Given the description of an element on the screen output the (x, y) to click on. 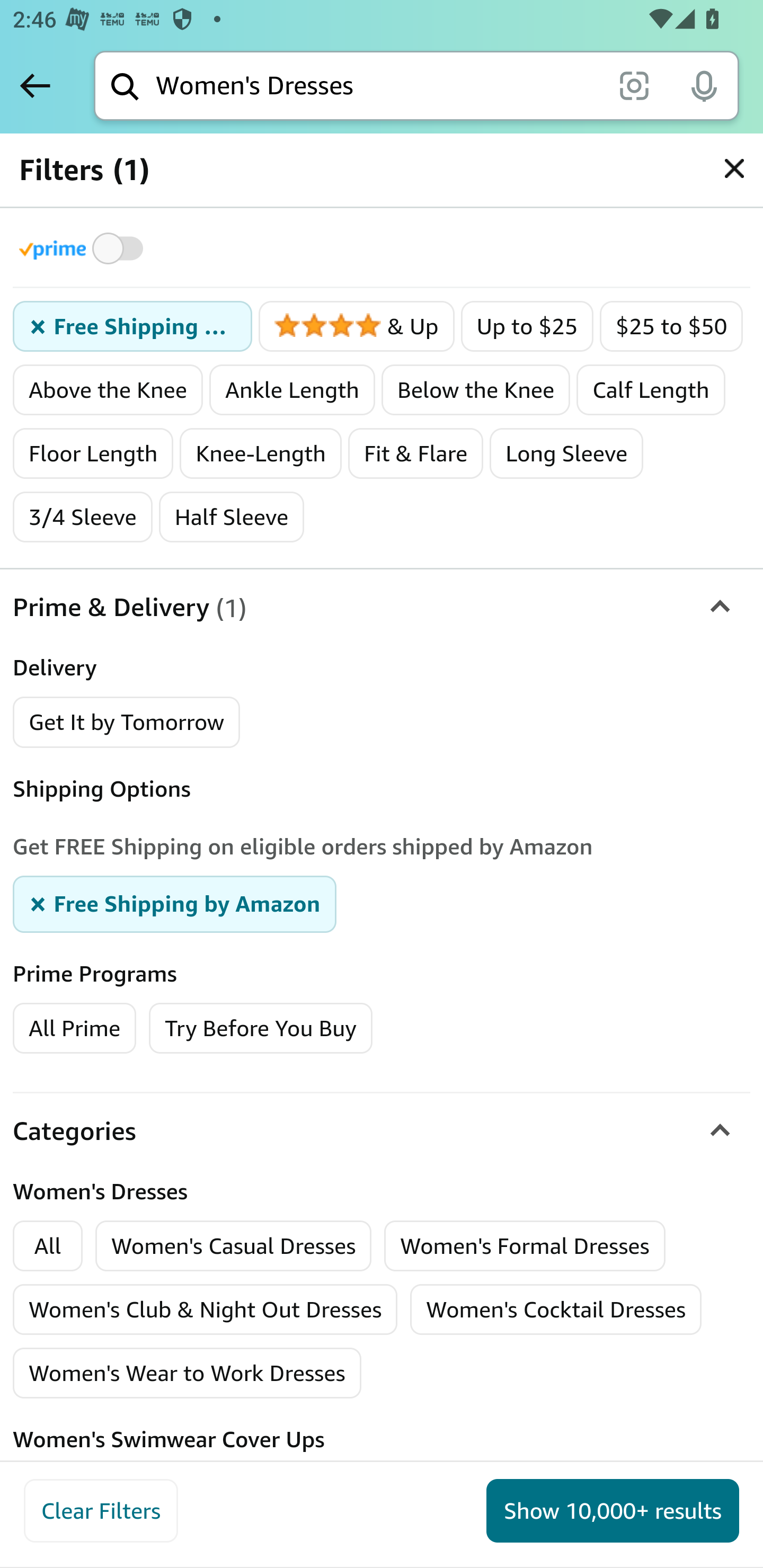
Back (35, 85)
scan it (633, 85)
Toggle to filter by Prime products Prime Eligible (83, 247)
4 Stars & Up (355, 326)
Up to $25 (526, 326)
$25 to $50 (670, 326)
Above the Knee (107, 390)
Ankle Length (292, 390)
Below the Knee (475, 390)
Calf Length (650, 390)
Floor Length (93, 453)
Knee-Length (260, 453)
Fit & Flare (415, 453)
Long Sleeve (566, 453)
3/4 Sleeve (82, 517)
Half Sleeve (231, 517)
Prime & Delivery (1) (381, 607)
Get It by Tomorrow (126, 721)
All Prime (74, 1027)
Try Before You Buy (260, 1027)
Categories (381, 1130)
All (47, 1244)
Women's Casual Dresses (233, 1244)
Women's Formal Dresses (524, 1244)
Women's Club & Night Out Dresses (205, 1308)
Women's Cocktail Dresses (556, 1308)
Women's Wear to Work Dresses (187, 1373)
Clear Filters (100, 1510)
Show 10,000+ results (612, 1510)
